Given the description of an element on the screen output the (x, y) to click on. 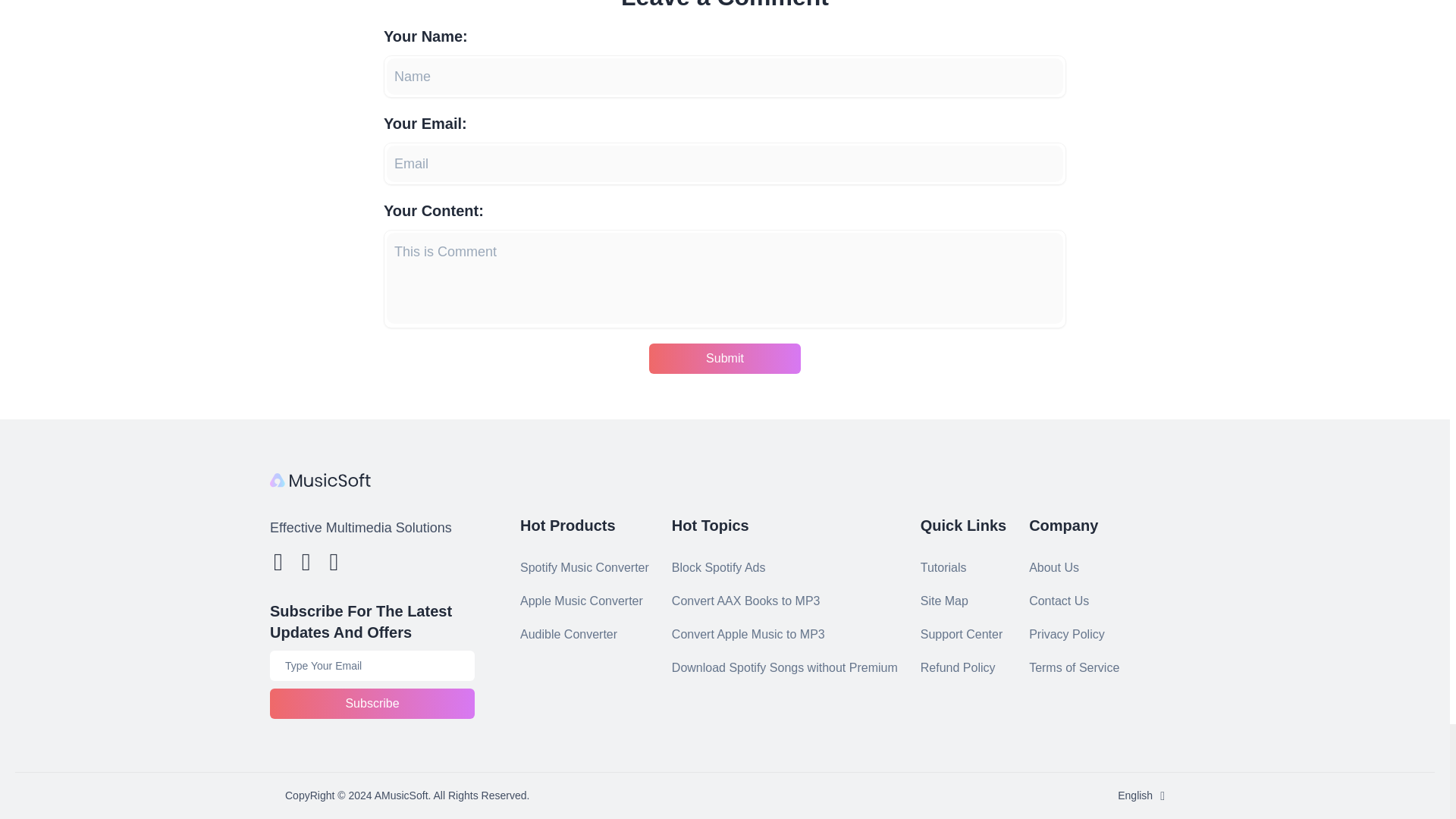
Convert Apple Music to MP3 (748, 634)
Apple Music Converter (581, 600)
Audible Converter (568, 634)
Spotify Music Converter (584, 567)
Block Spotify Ads (718, 567)
Submit (724, 358)
Best Spotify To MP3 Converter Free (718, 567)
Convert AAX Books to MP3 (746, 600)
Get Apple Music Free Forever (784, 667)
Download Music from Spotify (746, 600)
Subscribe (371, 703)
